Given the description of an element on the screen output the (x, y) to click on. 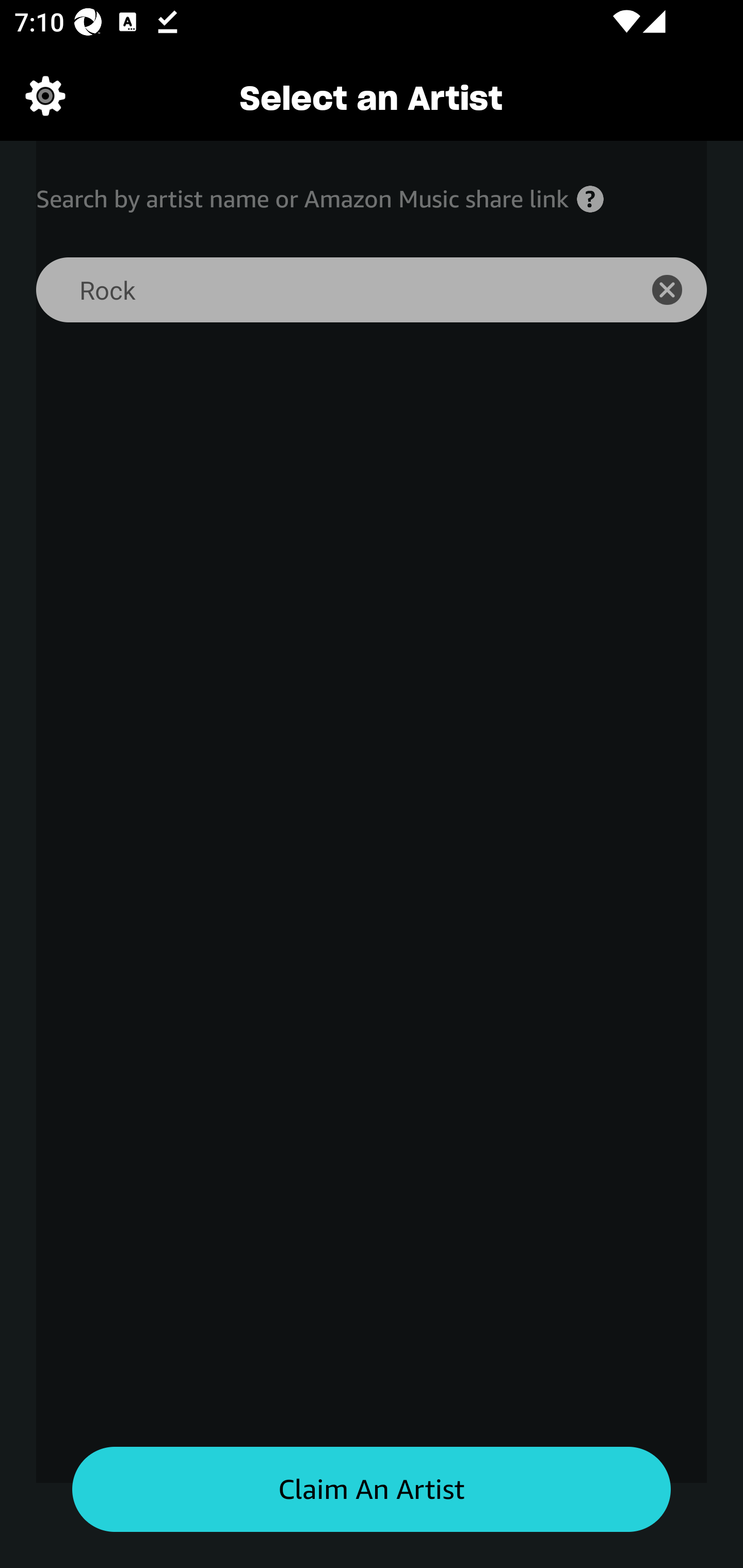
Help  icon (589, 199)
Rock Search for an artist search bar (324, 290)
 icon (677, 290)
Claim an artist button Claim An Artist (371, 1489)
